Given the description of an element on the screen output the (x, y) to click on. 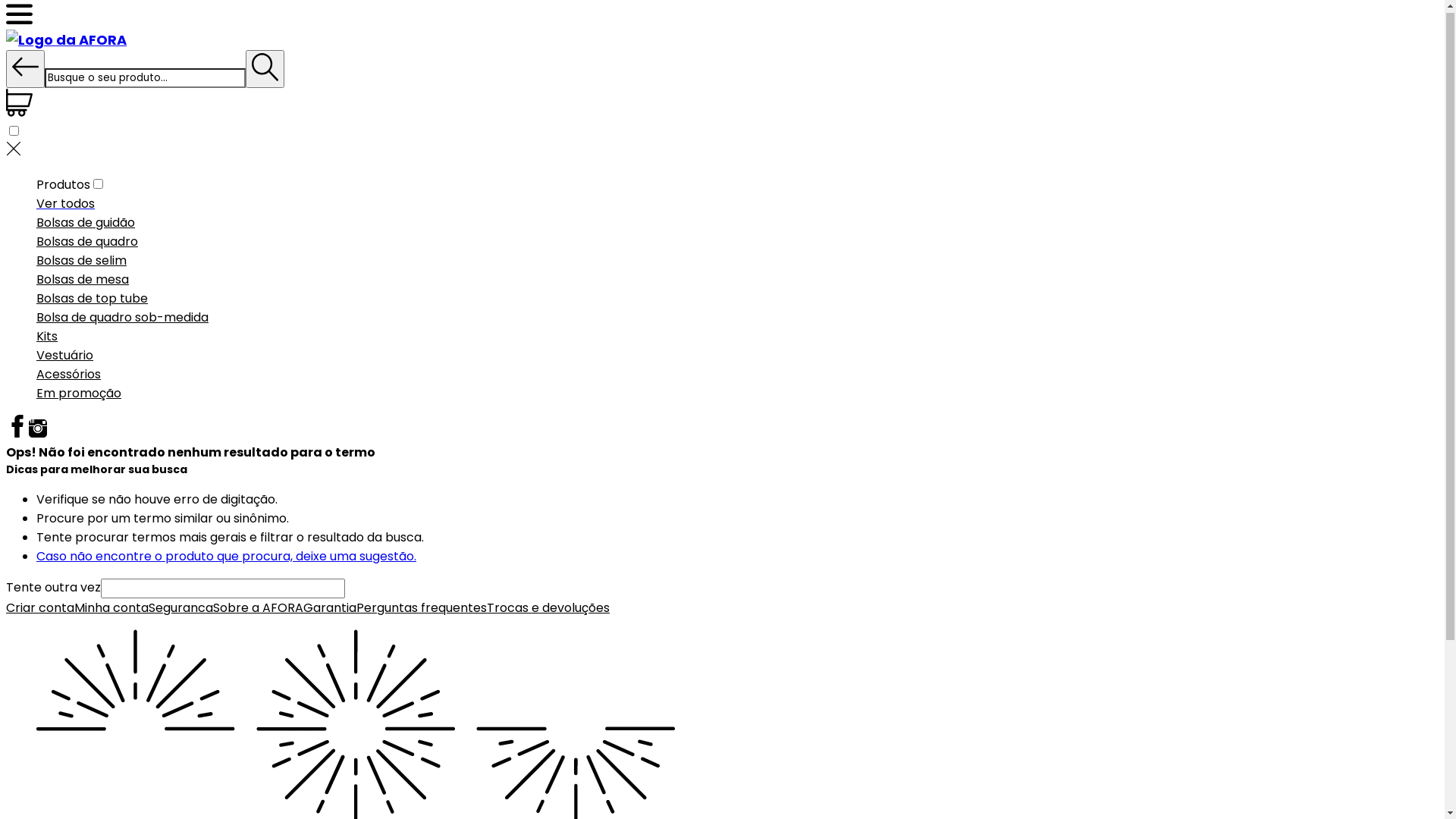
Bolsas de quadro Element type: text (87, 243)
Ver todos Element type: text (65, 205)
Bolsas de top tube Element type: text (91, 300)
Bolsas de mesa Element type: text (82, 281)
Bolsas de selim Element type: text (81, 262)
Sobre a AFORA Element type: text (258, 609)
Kits Element type: text (46, 338)
Bolsa de quadro sob-medida Element type: text (122, 319)
Garantia Element type: text (329, 609)
Seguranca Element type: text (180, 609)
Criar conta Element type: text (40, 609)
Minha conta Element type: text (111, 609)
Perguntas frequentes Element type: text (421, 609)
